Given the description of an element on the screen output the (x, y) to click on. 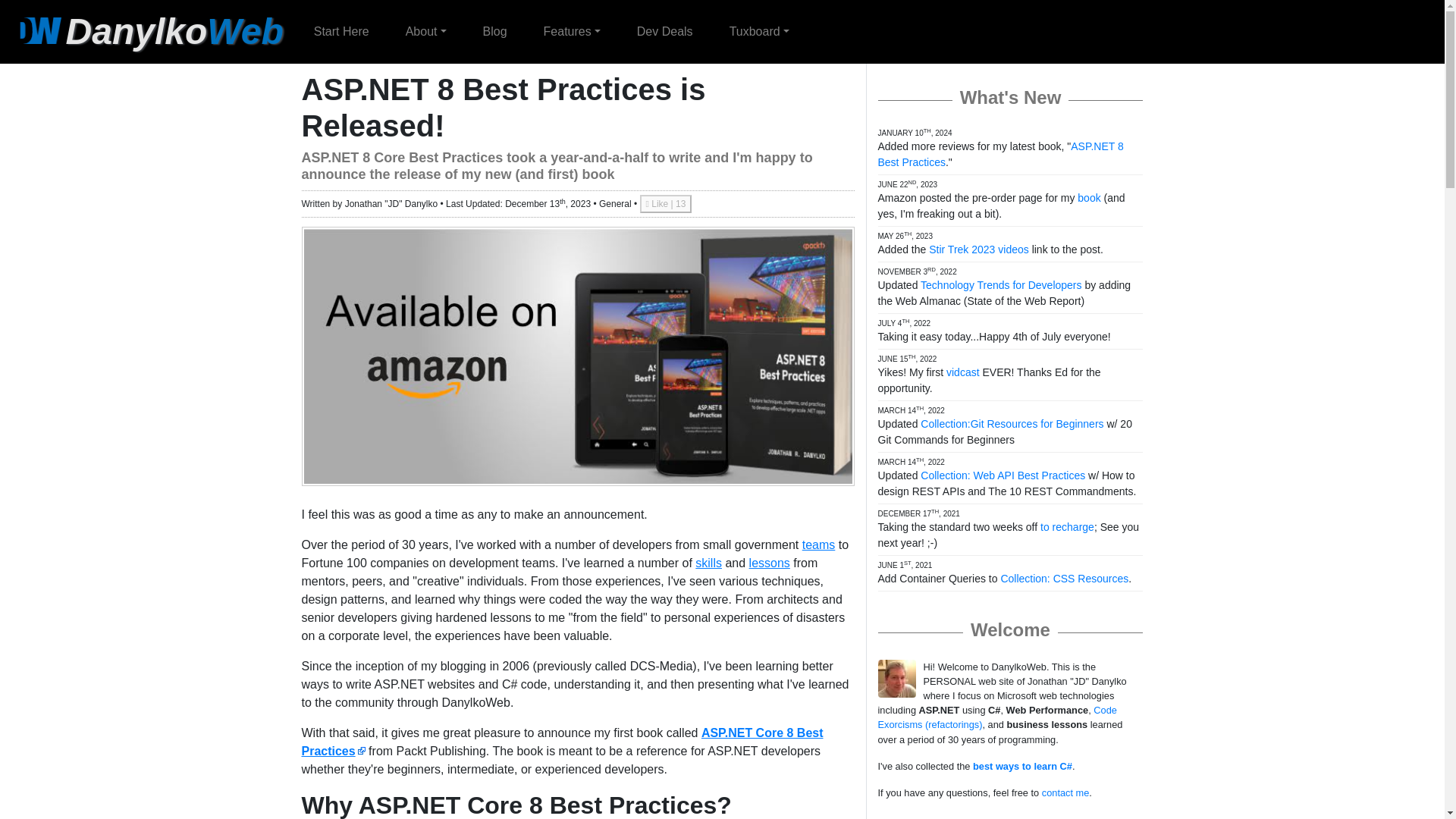
Blog (494, 31)
Dev Deals (664, 31)
Features (571, 31)
Tuxboard (759, 31)
DanylkoWeb (147, 31)
Go to Location, Location, Location: Where To Place Code (708, 562)
About (425, 31)
Go to ASP.NET 8 Best Practices on amazon.com (562, 741)
